Given the description of an element on the screen output the (x, y) to click on. 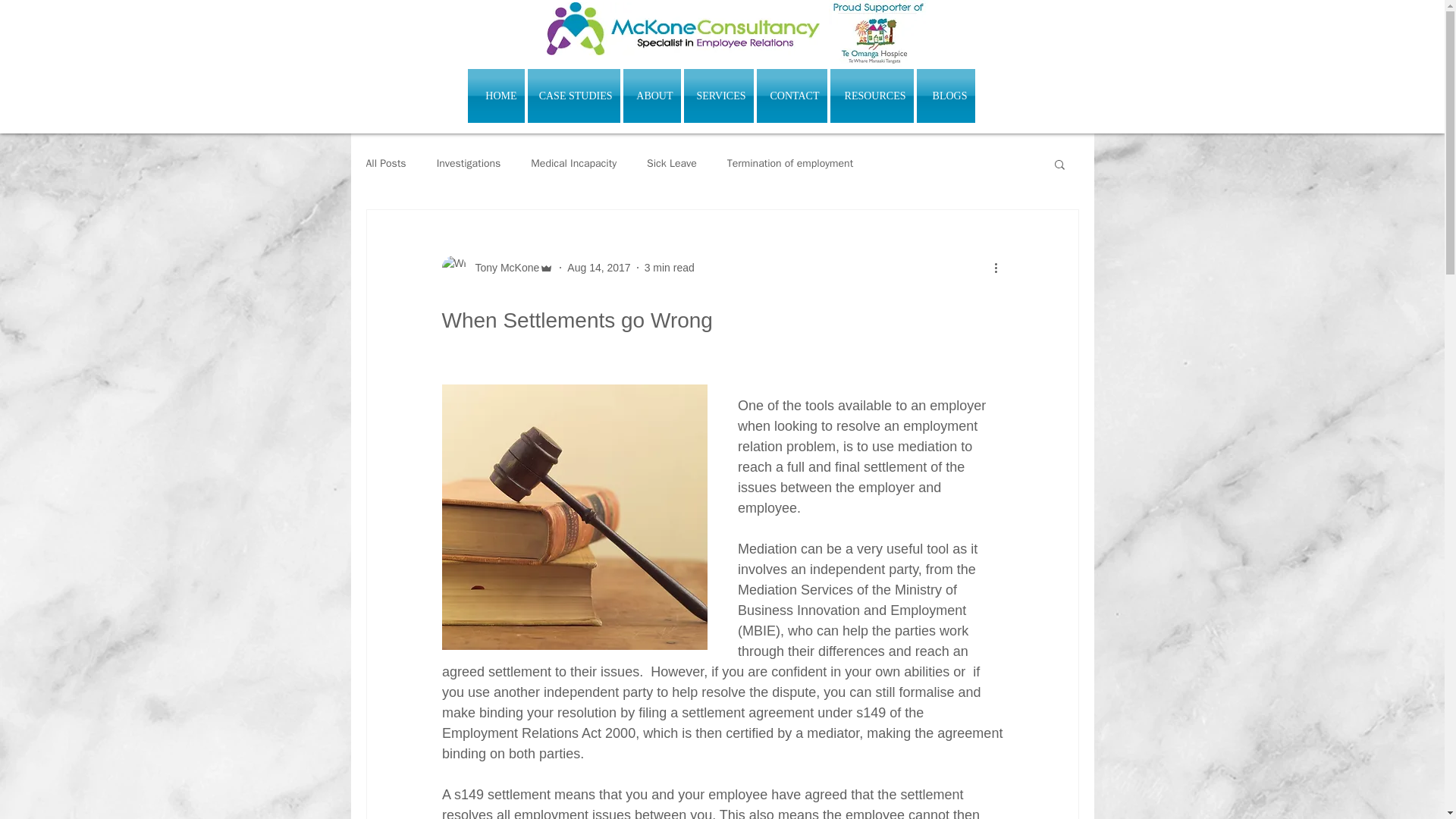
Medical Incapacity (573, 163)
CASE STUDIES (573, 95)
Investigations (468, 163)
Aug 14, 2017 (598, 266)
SERVICES (718, 95)
ABOUT (651, 95)
Termination of employment (789, 163)
CONTACT (791, 95)
HOME (496, 95)
Sick Leave (671, 163)
3 min read (669, 266)
RESOURCES (871, 95)
Tony McKone (501, 267)
All Posts (385, 163)
Tony McKone (497, 267)
